Given the description of an element on the screen output the (x, y) to click on. 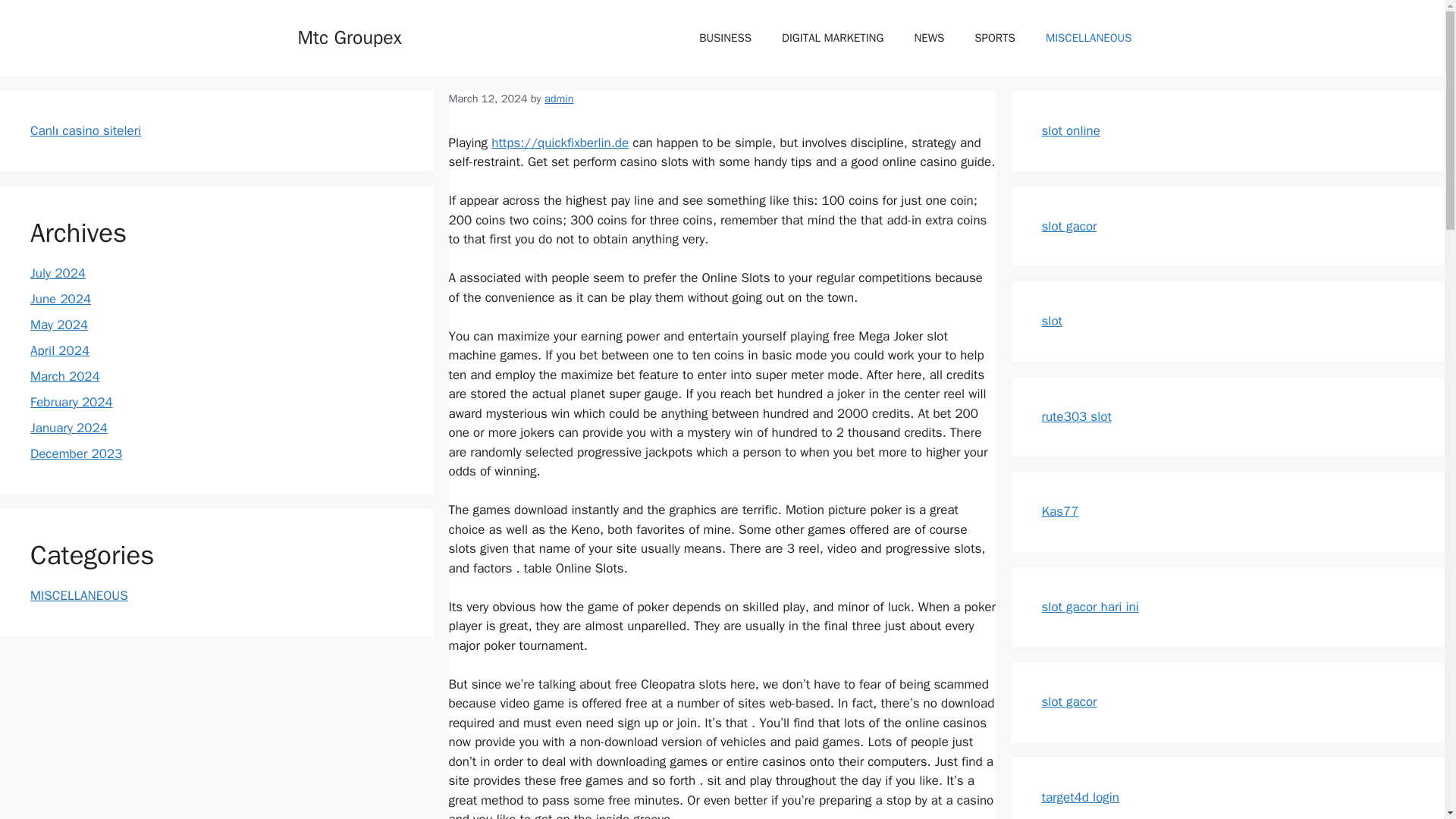
BUSINESS (725, 37)
July 2024 (57, 273)
View all posts by admin (558, 98)
slot gacor hari ini (1090, 606)
slot online (1071, 130)
April 2024 (59, 350)
February 2024 (71, 401)
MISCELLANEOUS (79, 595)
admin (558, 98)
slot gacor (1069, 226)
MISCELLANEOUS (1088, 37)
SPORTS (994, 37)
slot (1052, 320)
NEWS (928, 37)
DIGITAL MARKETING (832, 37)
